Given the description of an element on the screen output the (x, y) to click on. 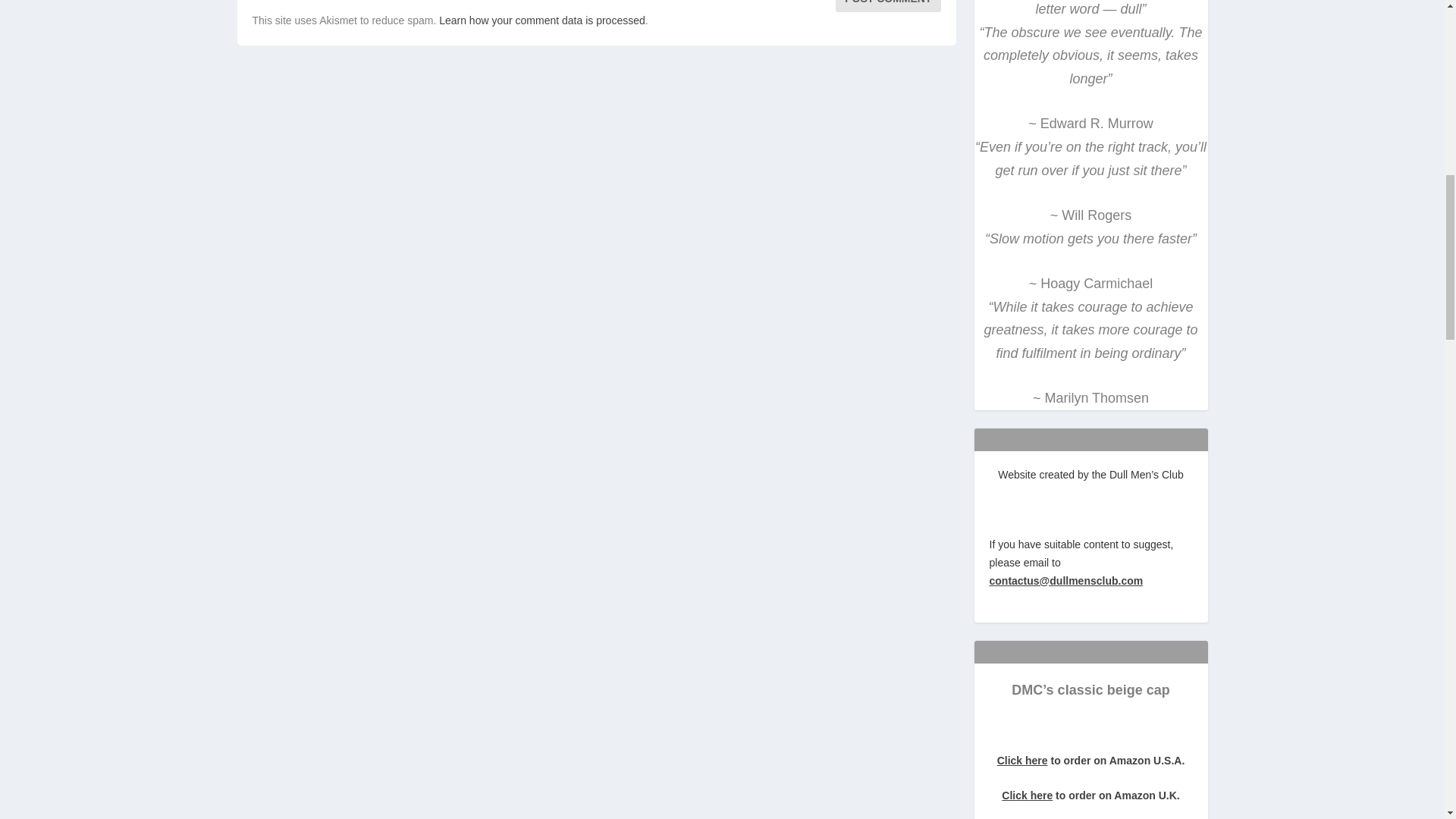
Click here to order on Amazon U.K. (1090, 795)
Post Comment (887, 6)
Post Comment (887, 6)
Learn how your comment data is processed (542, 20)
Click here to order on Amazon U.S.A. (1091, 760)
